Given the description of an element on the screen output the (x, y) to click on. 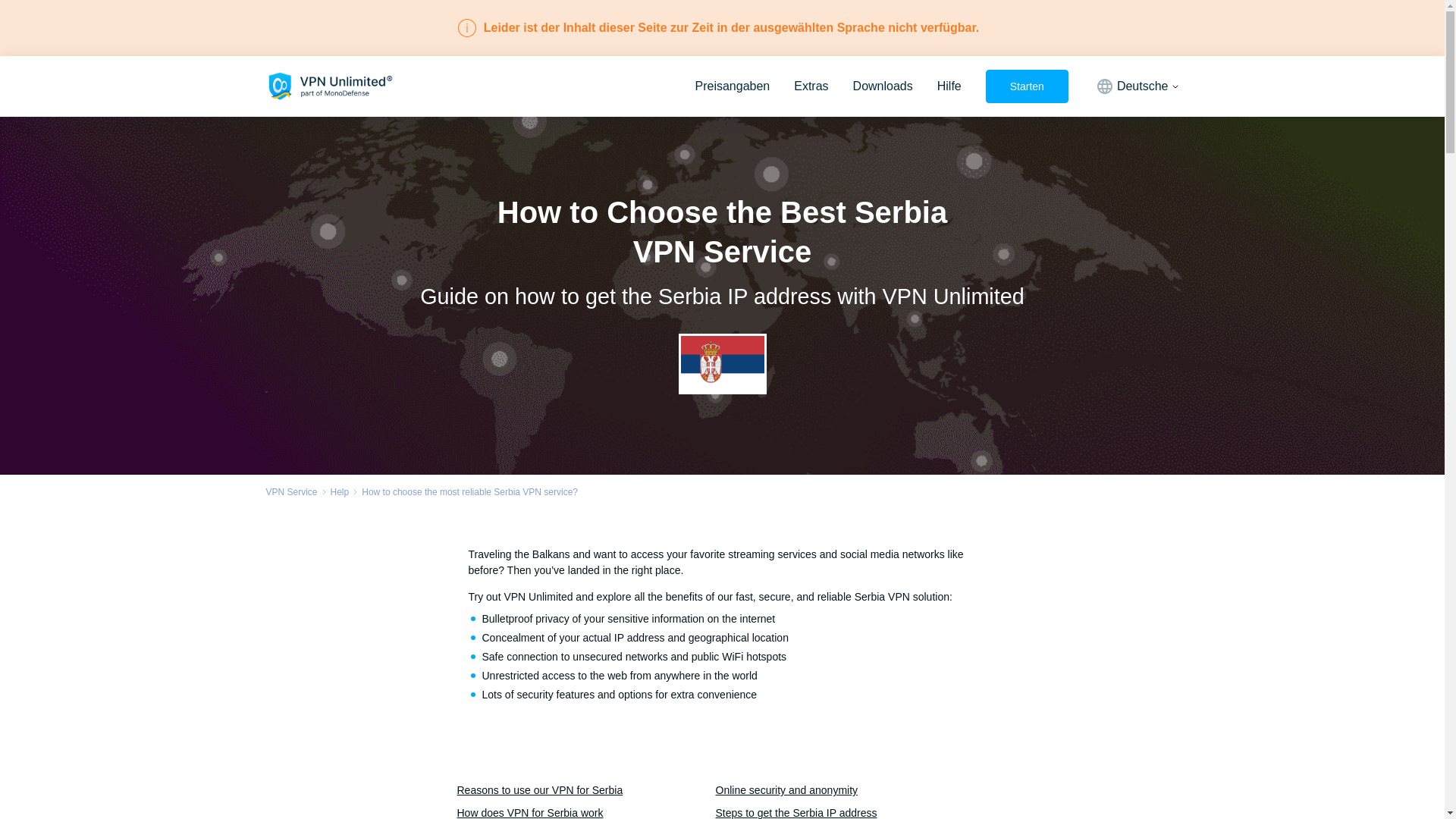
Downloads (882, 85)
Extras (810, 85)
Hilfe (948, 85)
Preisangaben (732, 85)
